Given the description of an element on the screen output the (x, y) to click on. 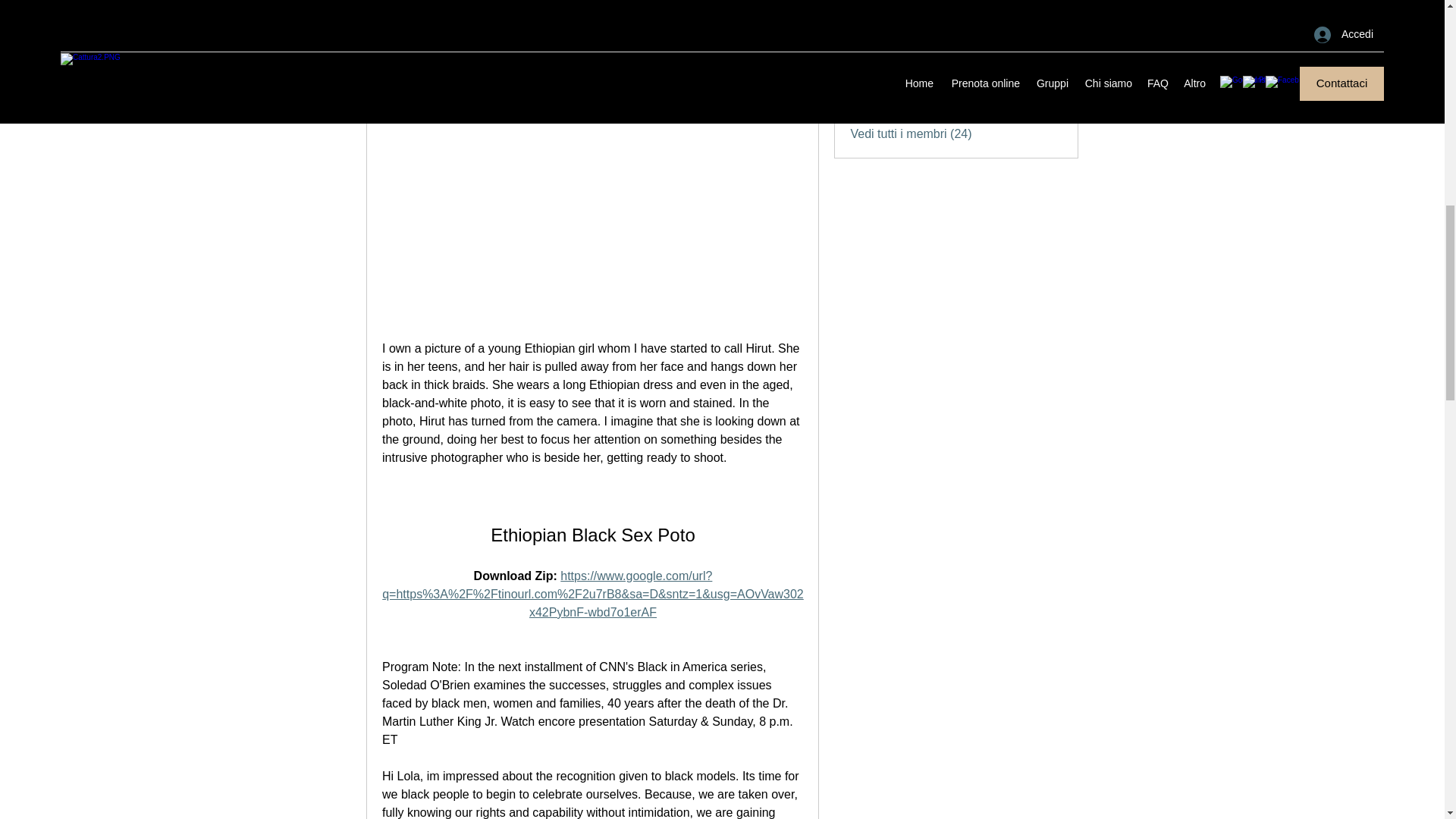
Morris Ryder (863, 0)
Janet Gee (863, 23)
Segui (1047, 60)
Janet Gee (914, 21)
Segui (1047, 23)
